Given the description of an element on the screen output the (x, y) to click on. 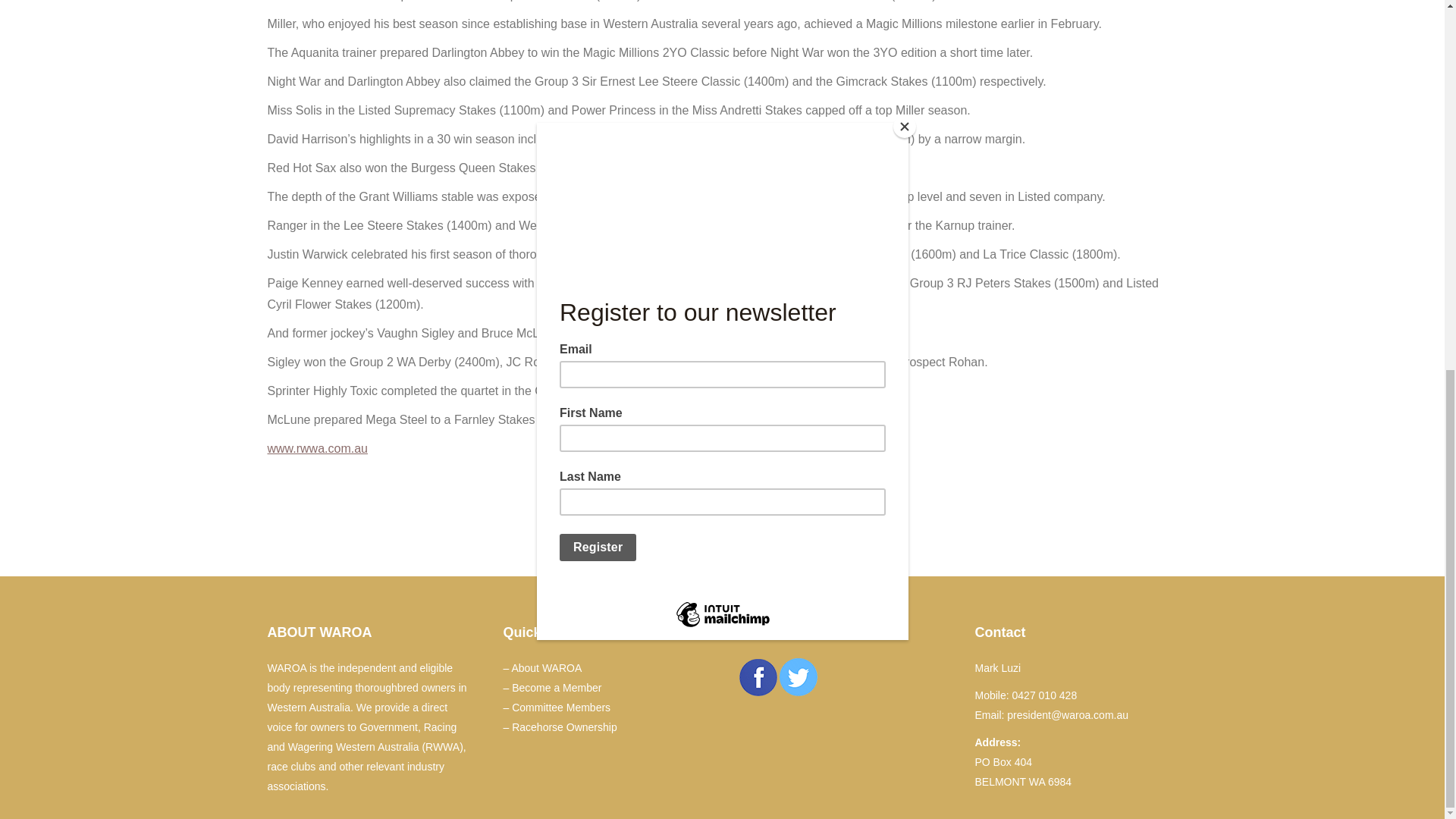
4:00 pm (722, 506)
